Given the description of an element on the screen output the (x, y) to click on. 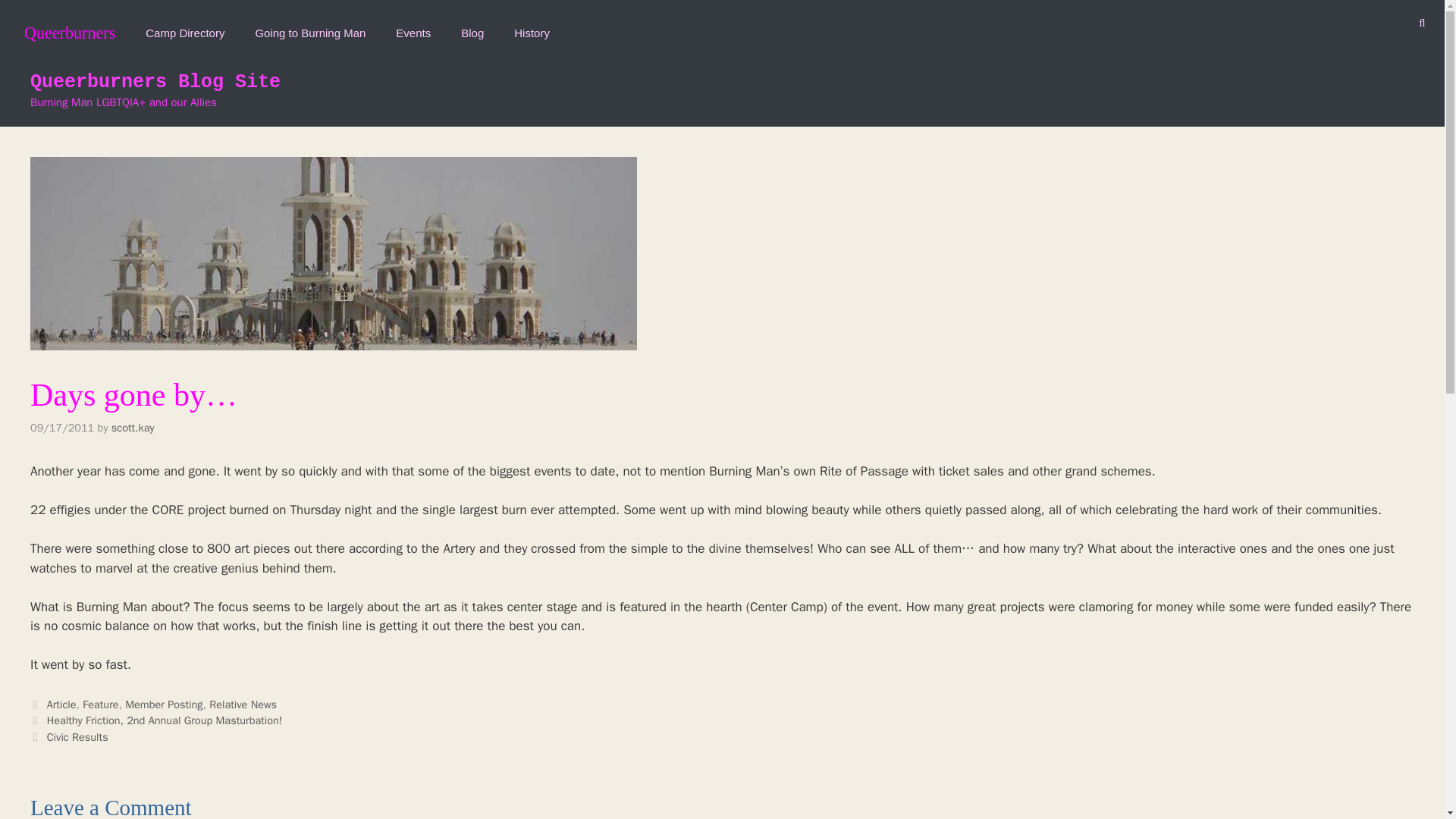
Relative News (242, 704)
Member Posting (163, 704)
Going to Burning Man (310, 28)
Camp Directory (185, 28)
scott.kay (133, 427)
Events (412, 28)
Queerburners Blog Site (155, 82)
History (531, 28)
Healthy Friction, 2nd Annual Group Masturbation! (164, 720)
Blog (472, 28)
Article (61, 704)
Feature (99, 704)
Civic Results (76, 736)
Queerburners (65, 28)
View all posts by scott.kay (133, 427)
